Given the description of an element on the screen output the (x, y) to click on. 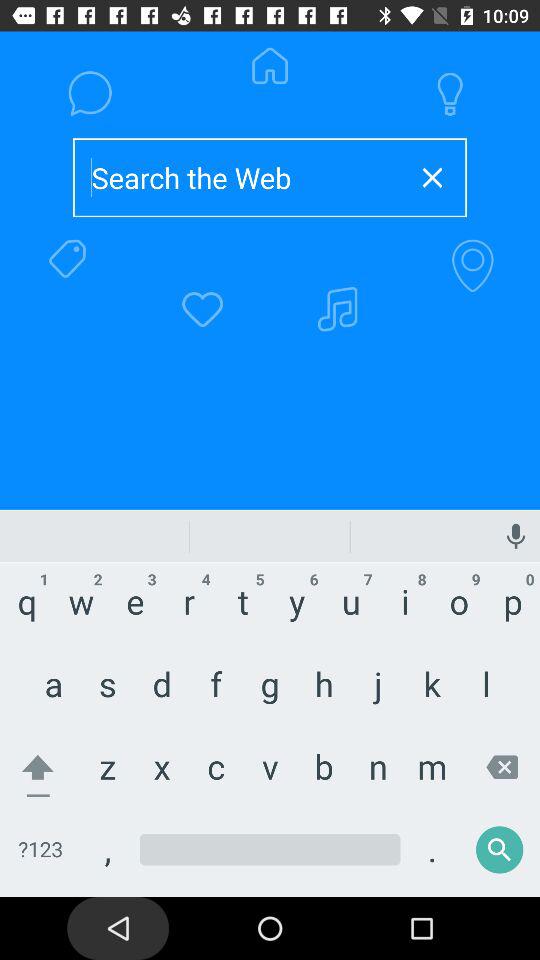
click on the home button above text field (269, 89)
